Given the description of an element on the screen output the (x, y) to click on. 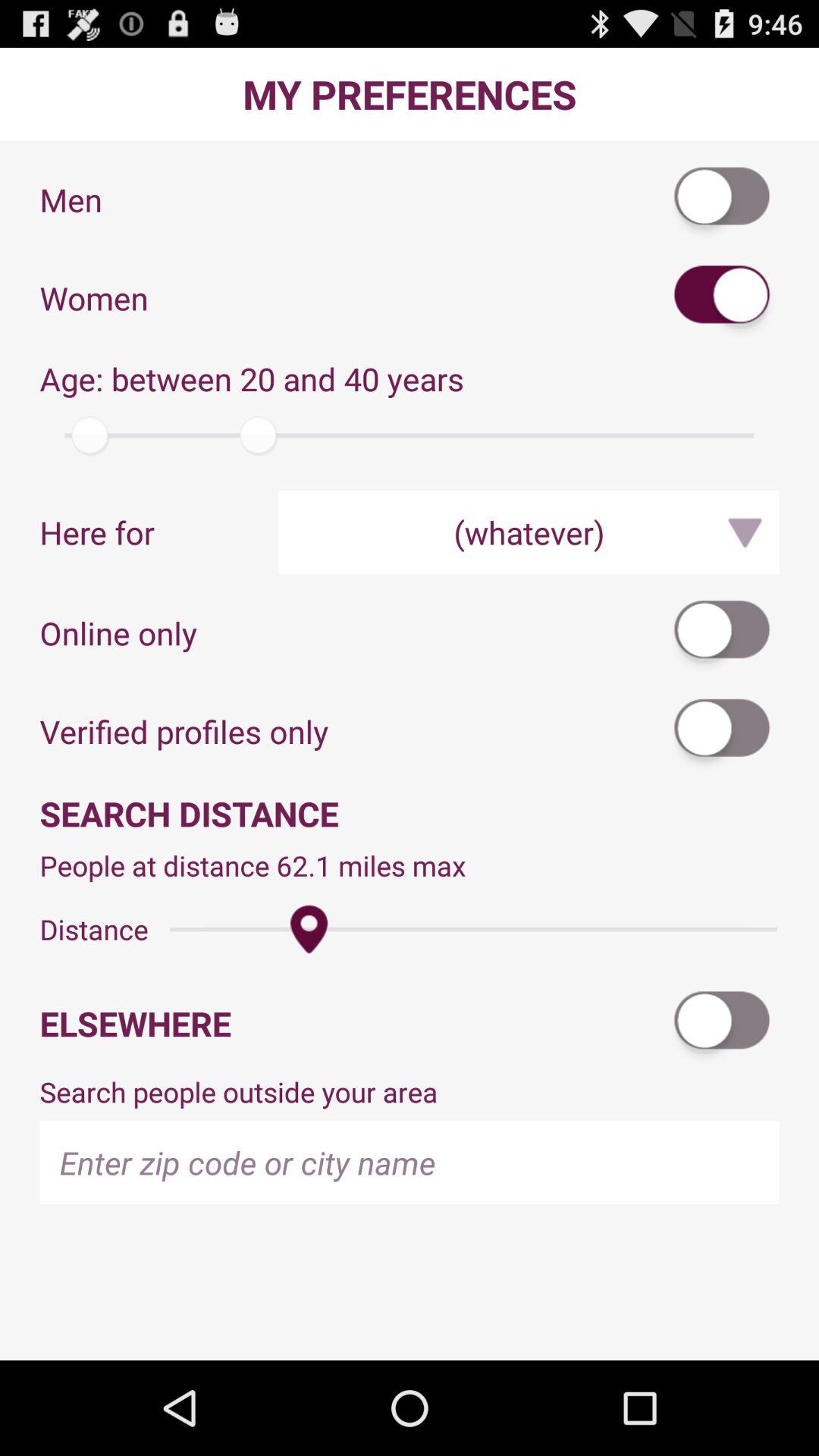
click the app above the search distance (722, 731)
